Given the description of an element on the screen output the (x, y) to click on. 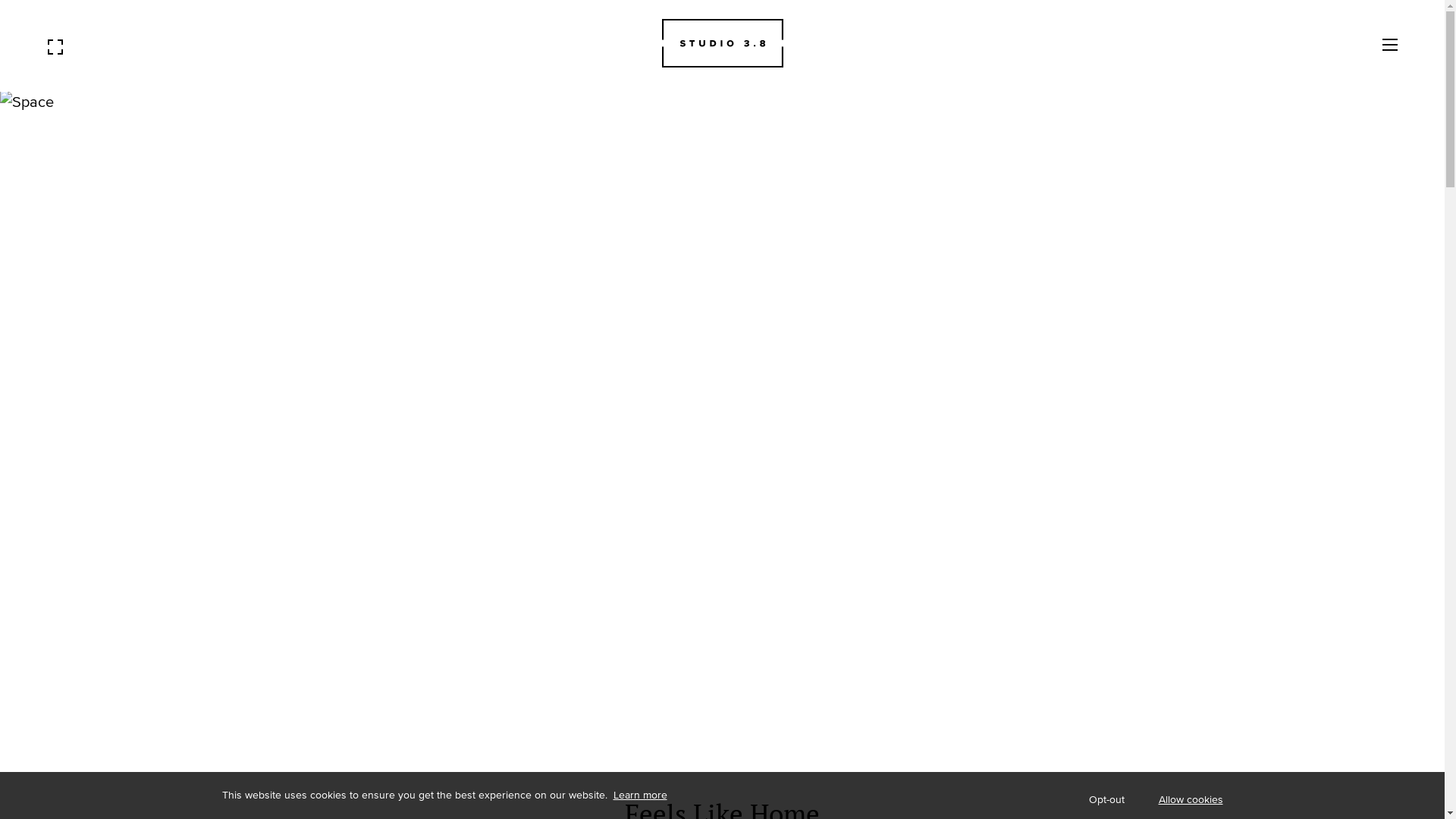
Learn more Element type: text (637, 795)
Allow cookies Element type: text (1190, 799)
Menu Element type: text (1389, 44)
Opt-out Element type: text (1106, 799)
